Given the description of an element on the screen output the (x, y) to click on. 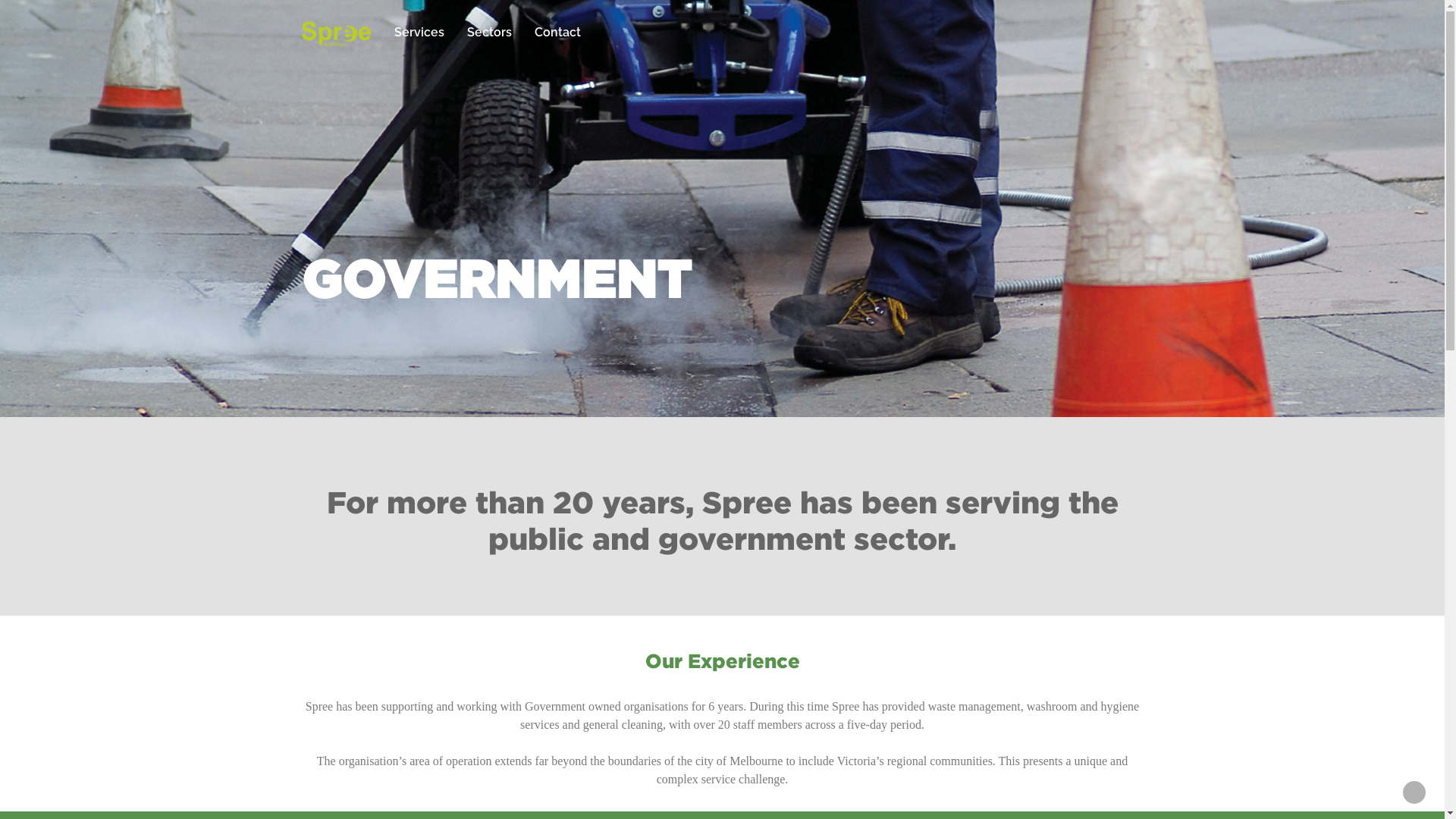
Contact Element type: text (557, 32)
Services Element type: text (418, 32)
Sectors Element type: text (489, 32)
